Given the description of an element on the screen output the (x, y) to click on. 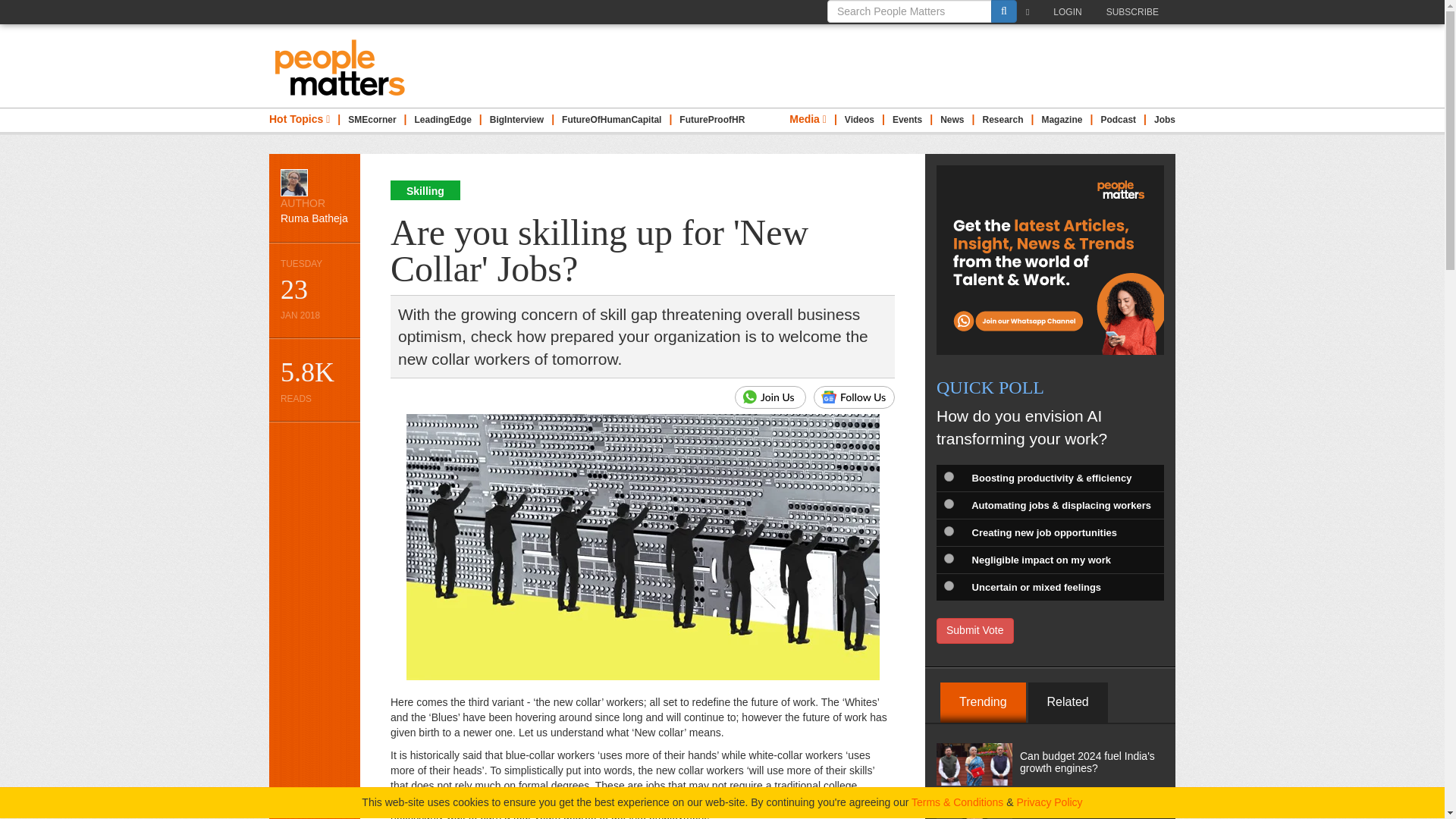
Podcast (1117, 119)
SUBSCRIBE (1136, 12)
BigInterview (516, 119)
Magazine (1061, 119)
Posted on: Tuesday 23rd, January 2018 08:00am IST (314, 289)
FutureProofHR (711, 119)
Subscribe to our newsletter (1030, 12)
News (951, 119)
SMEcorner (314, 197)
FutureOfHumanCapital (371, 119)
Skilling (611, 119)
Videos (425, 189)
Join Us (859, 119)
Events (770, 396)
